Given the description of an element on the screen output the (x, y) to click on. 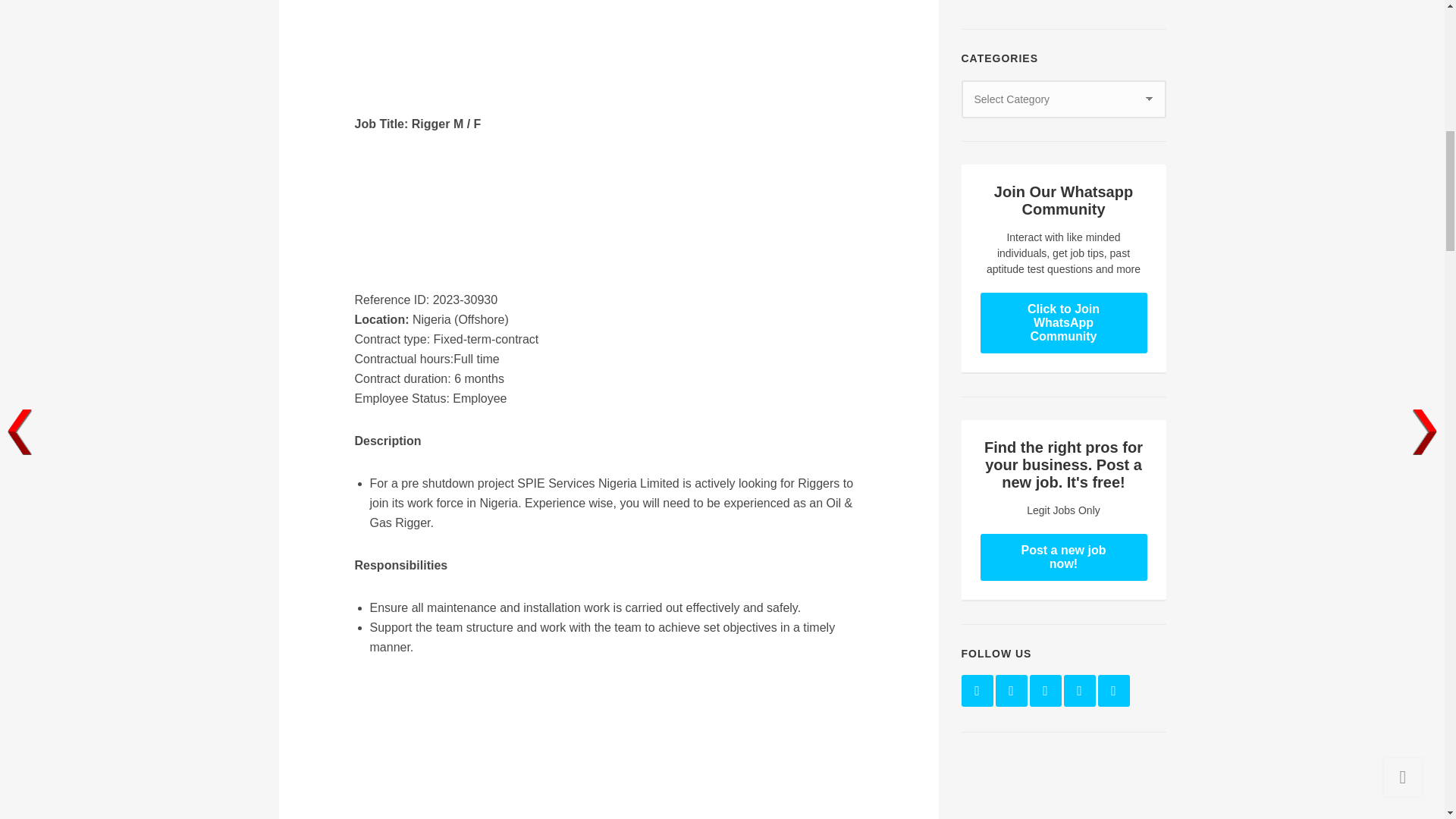
Post a new job now! (1063, 556)
Twitter (1010, 690)
instagram (1078, 690)
Facebook (976, 690)
Click to Join WhatsApp Community (1063, 322)
linkedin (1045, 690)
YouTube (1113, 690)
